Given the description of an element on the screen output the (x, y) to click on. 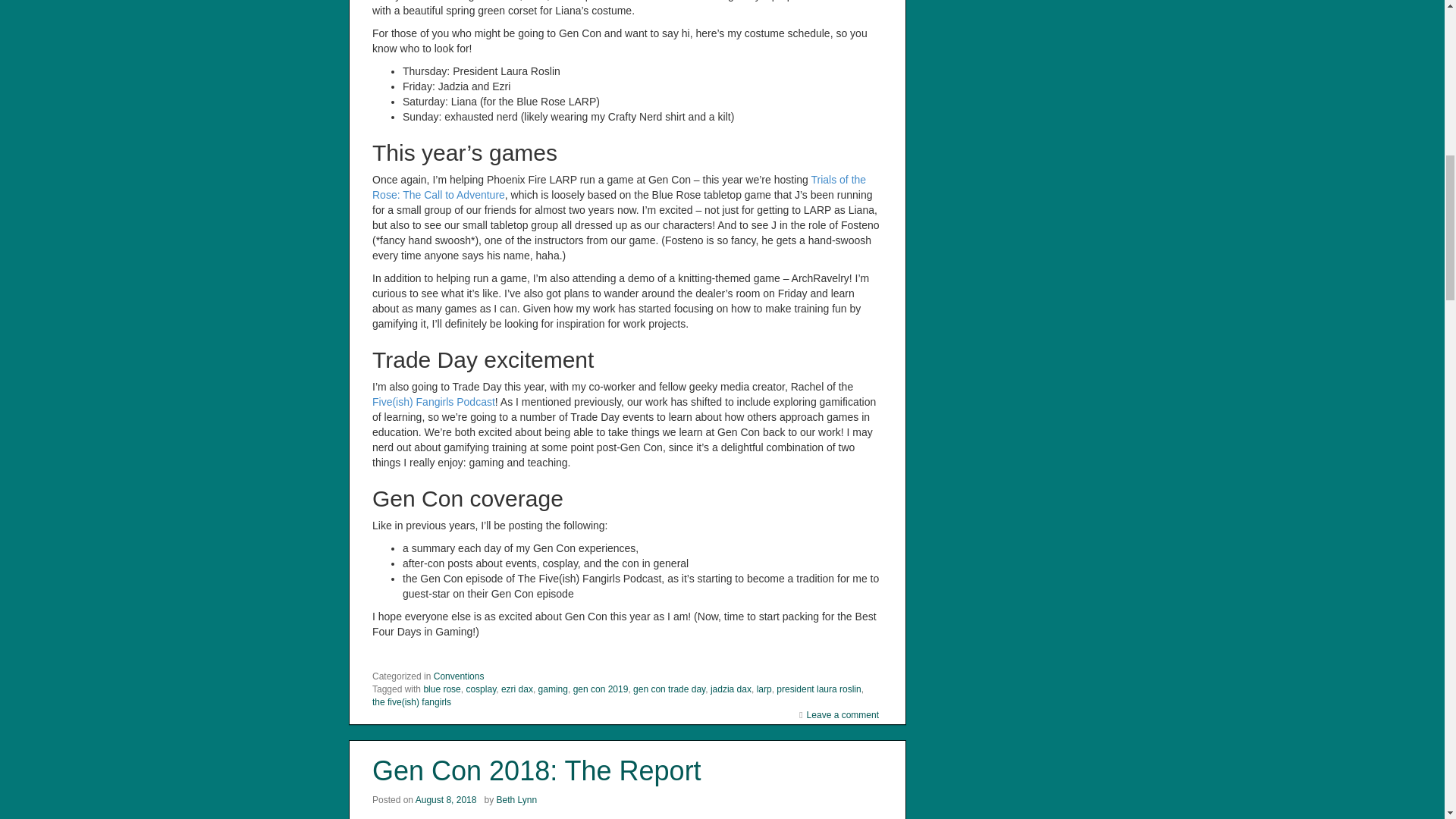
Gen Con 2018: The Report (536, 770)
gen con 2019 (600, 688)
gaming (552, 688)
Conventions (458, 675)
gen con trade day (668, 688)
jadzia dax (730, 688)
president laura roslin (818, 688)
Leave a comment (842, 715)
larp (764, 688)
blue rose (441, 688)
cosplay (480, 688)
Trials of the Rose: The Call to Adventure (619, 186)
ezri dax (516, 688)
